Given the description of an element on the screen output the (x, y) to click on. 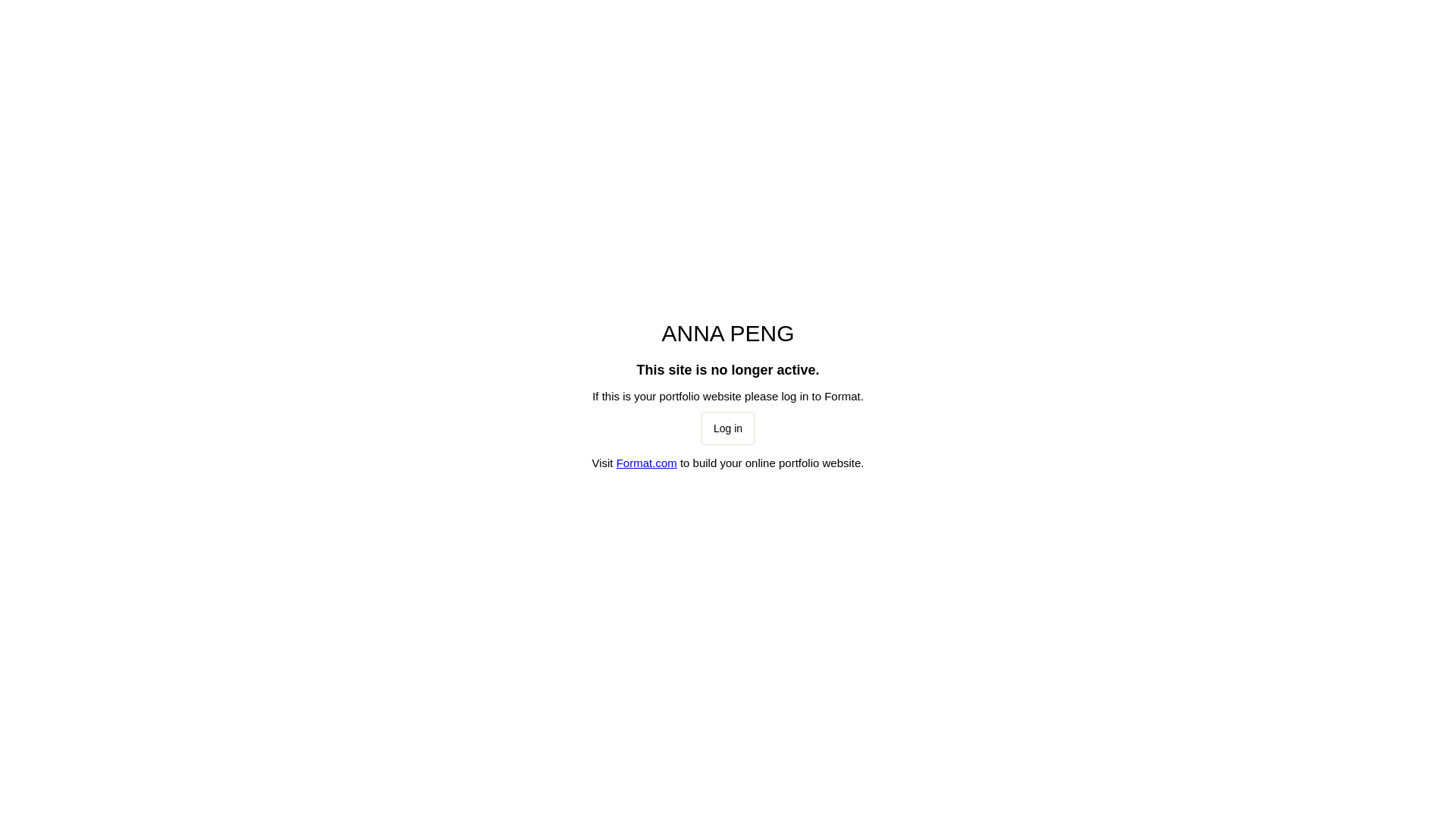
Log in Element type: text (727, 428)
Format.com Element type: text (646, 462)
